Given the description of an element on the screen output the (x, y) to click on. 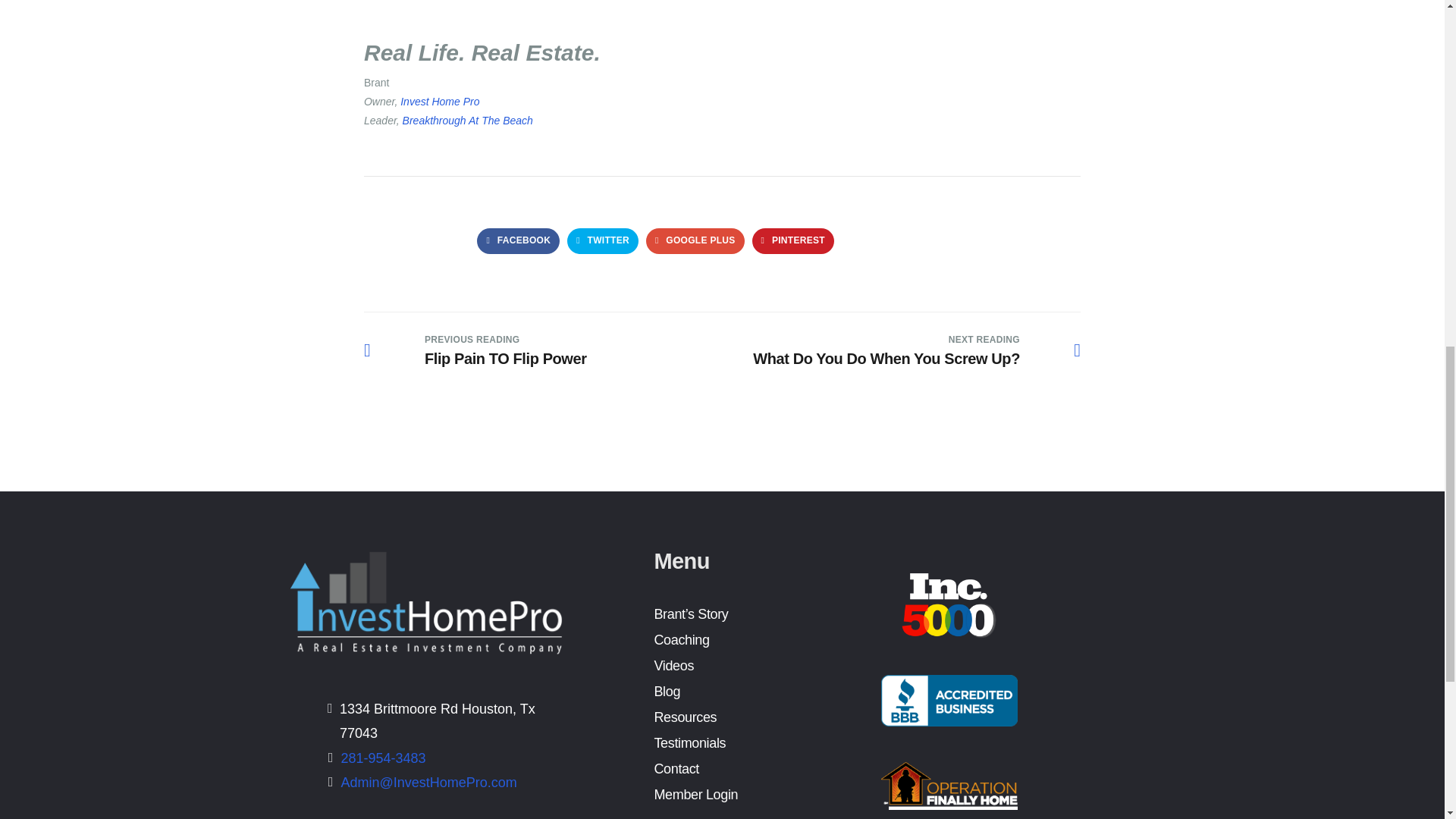
FACEBOOK (518, 240)
Google Plus (695, 240)
Breakthrough At The Beach (467, 120)
TWITTER (603, 240)
Twitter (603, 240)
 Invest Home Pro (438, 101)
PINTEREST (793, 240)
281-954-3483 (383, 758)
Pinterest (793, 240)
GOOGLE PLUS (475, 350)
Facebook (695, 240)
